Given the description of an element on the screen output the (x, y) to click on. 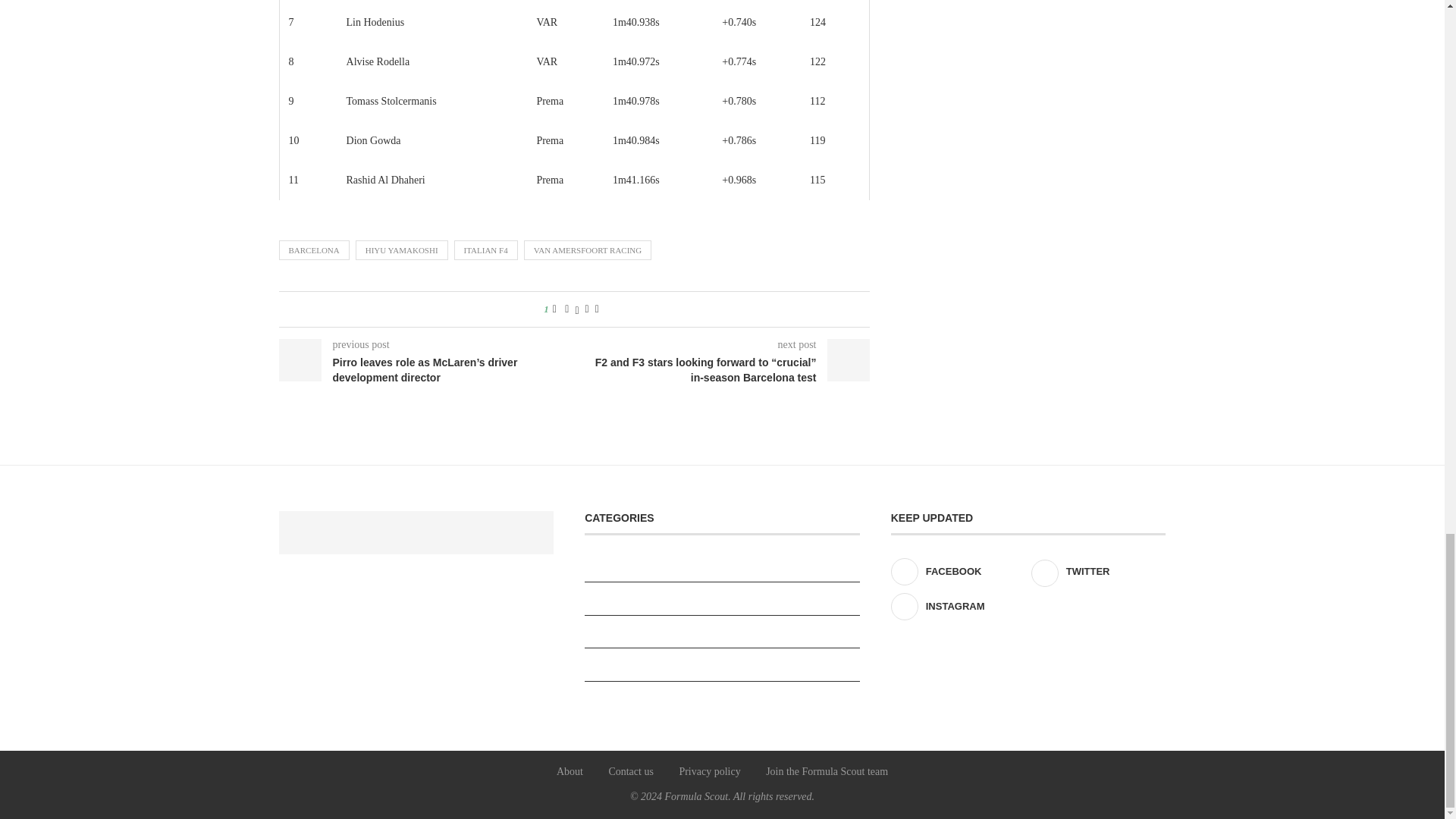
BARCELONA (314, 250)
ITALIAN F4 (486, 250)
HIYU YAMAKOSHI (401, 250)
VAN AMERSFOORT RACING (588, 250)
